Given the description of an element on the screen output the (x, y) to click on. 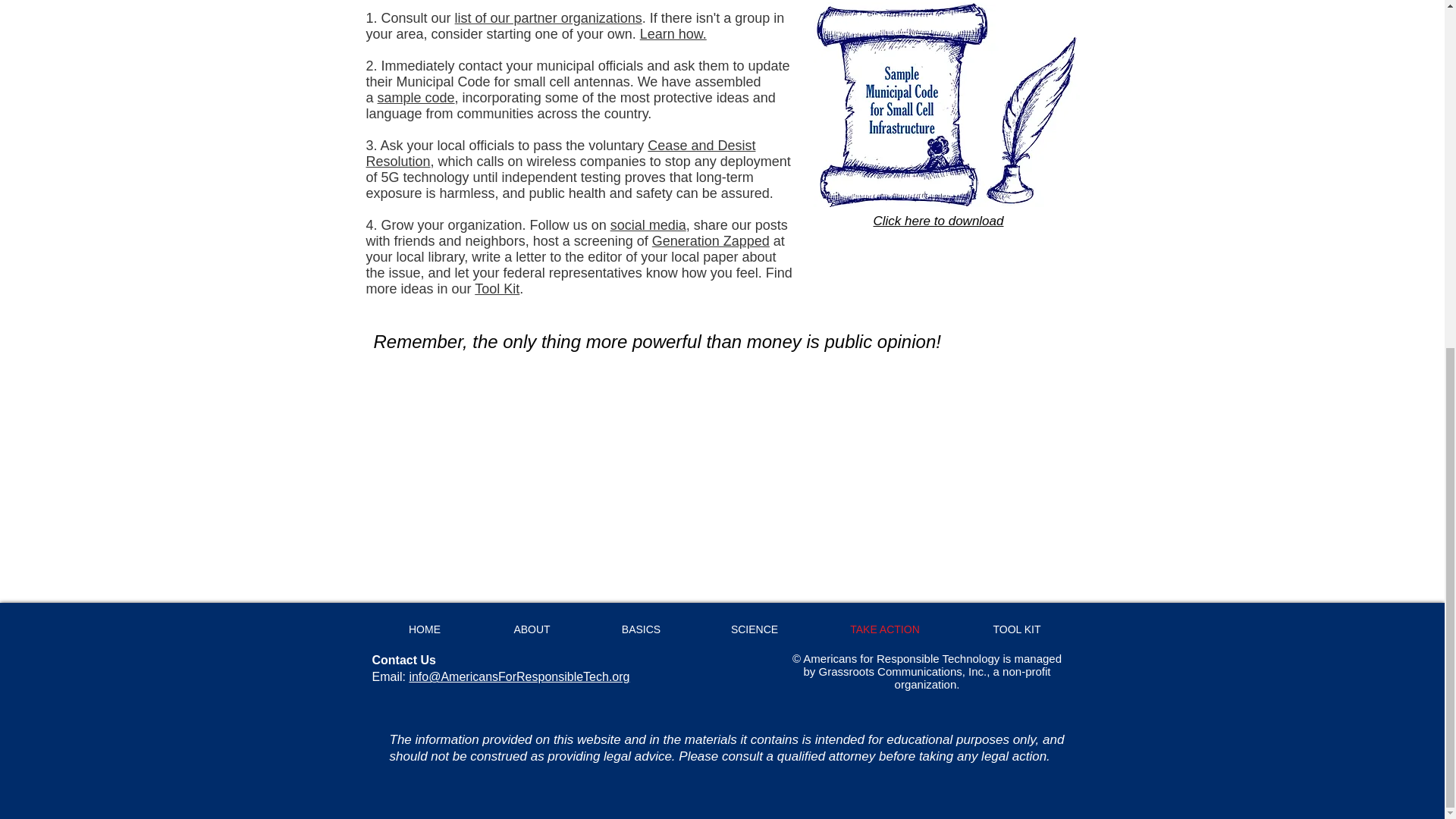
list of our partner organizations (548, 17)
Cease and Desist Resolution (560, 153)
Tool Kit (496, 288)
Click here to download (938, 220)
Learn how. (673, 33)
Generation Zapped (711, 240)
sample code (415, 97)
social media (647, 224)
